Given the description of an element on the screen output the (x, y) to click on. 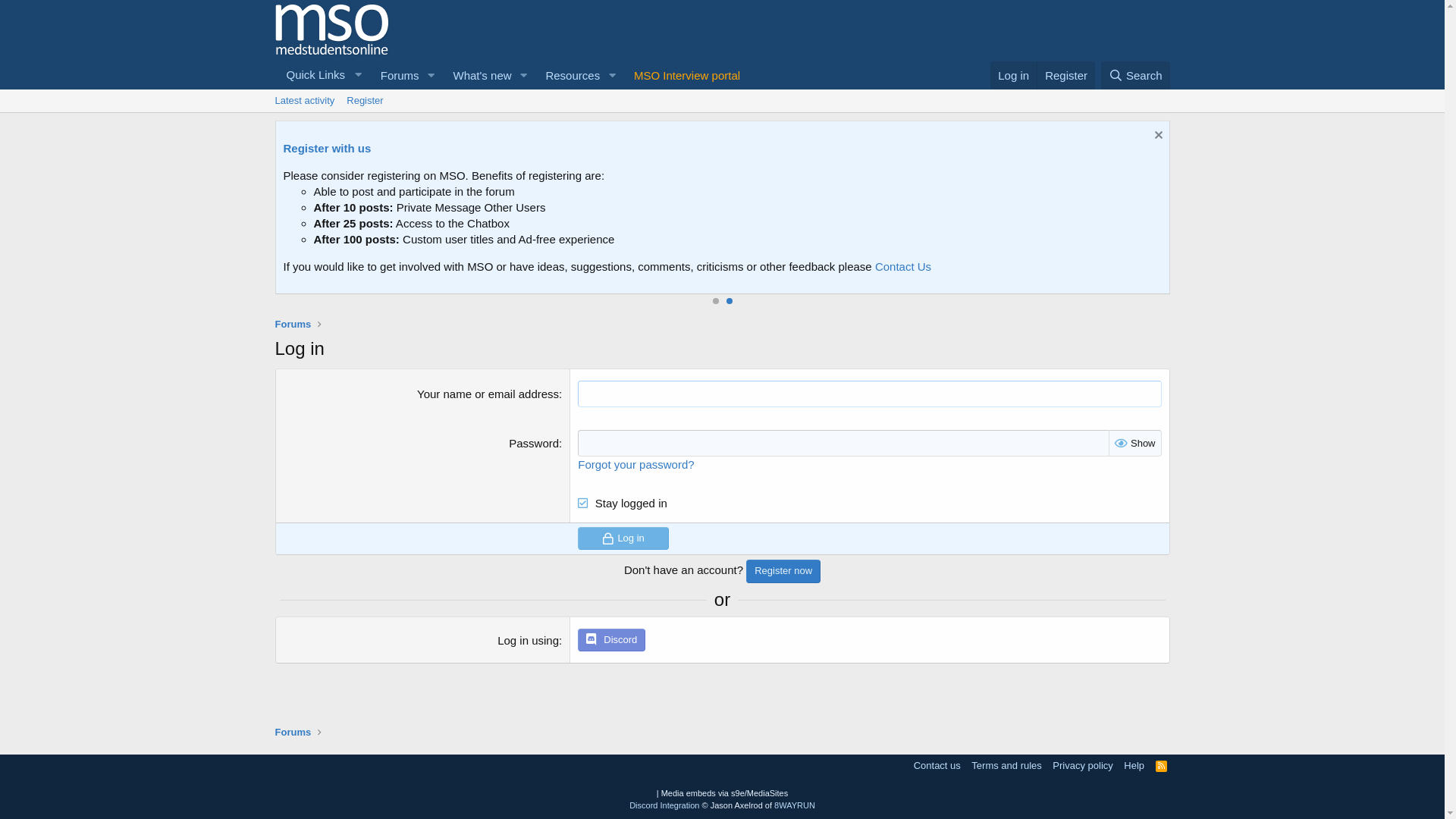
Forums Element type: text (394, 75)
About MSO Element type: text (381, 179)
Dev Raga Personal Finance Podcast Forum Element type: text (424, 270)
Forgot your password? Element type: text (635, 464)
Privacy policy Element type: text (1082, 765)
MSO Rules Element type: text (677, 179)
Resources Element type: text (567, 75)
1 Element type: text (715, 301)
Discord Integration Element type: text (664, 804)
Media embeds via s9e/MediaSites Element type: text (724, 792)
Annual Welcome and Important Information Element type: text (529, 179)
Forums Element type: text (292, 732)
2 Element type: text (729, 301)
Terms and rules Element type: text (1006, 765)
Log in Element type: text (1013, 75)
Register now Element type: text (783, 570)
8WAYRUN Element type: text (794, 804)
Help Element type: text (1133, 765)
Register with us Element type: text (1198, 147)
Contact us Element type: text (936, 765)
Search Element type: text (1135, 75)
Register Element type: text (364, 100)
MSO Interview portal Element type: text (686, 75)
Discord Element type: text (611, 639)
Latest activity Element type: text (304, 100)
Register Element type: text (1065, 75)
Wellbeing Forum Element type: text (356, 238)
Forums Element type: text (292, 324)
Study, Productivity and Tech Forum Element type: text (402, 254)
Quick Links Element type: text (321, 74)
What's new Element type: text (476, 75)
RSS Element type: text (1161, 765)
Log in Element type: text (622, 538)
